Given the description of an element on the screen output the (x, y) to click on. 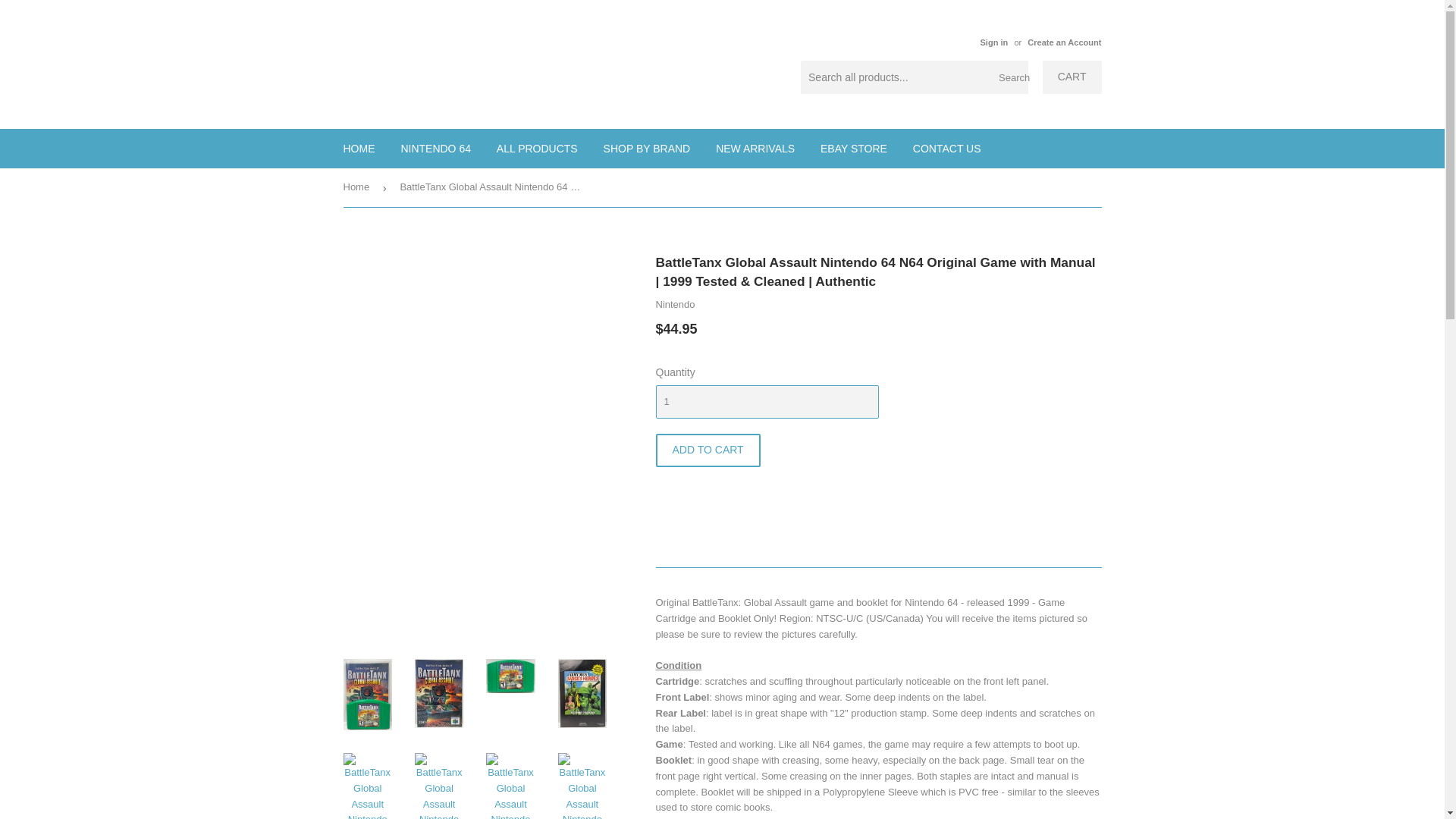
Create an Account (1063, 41)
Sign in (993, 41)
1 (766, 401)
CART (1072, 77)
Search (1010, 78)
